Given the description of an element on the screen output the (x, y) to click on. 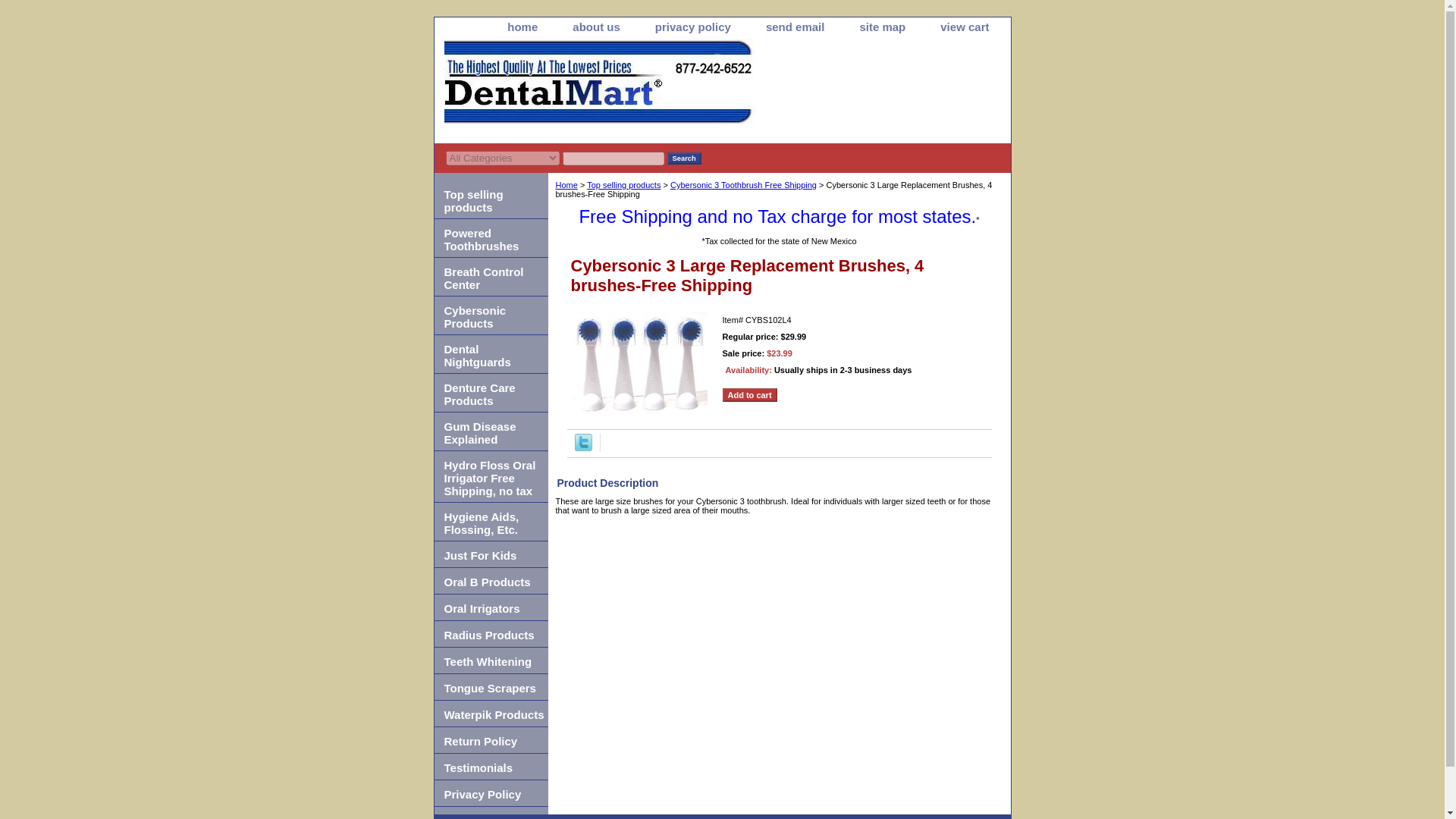
Add to cart (749, 395)
Privacy Policy (490, 793)
Hygiene Aids, Flossing, Etc. (490, 521)
Oral B Products (490, 581)
Top selling products (490, 199)
Cybersonic 3 Toothbrush Free Shipping (742, 184)
Return Policy (490, 740)
Powered Toothbrushes (490, 238)
about us (595, 27)
Top selling products (623, 184)
Add to cart (749, 395)
Denture Care Products (490, 392)
Top selling products (490, 199)
Add to cart (749, 395)
Breath Control Center (490, 276)
